Given the description of an element on the screen output the (x, y) to click on. 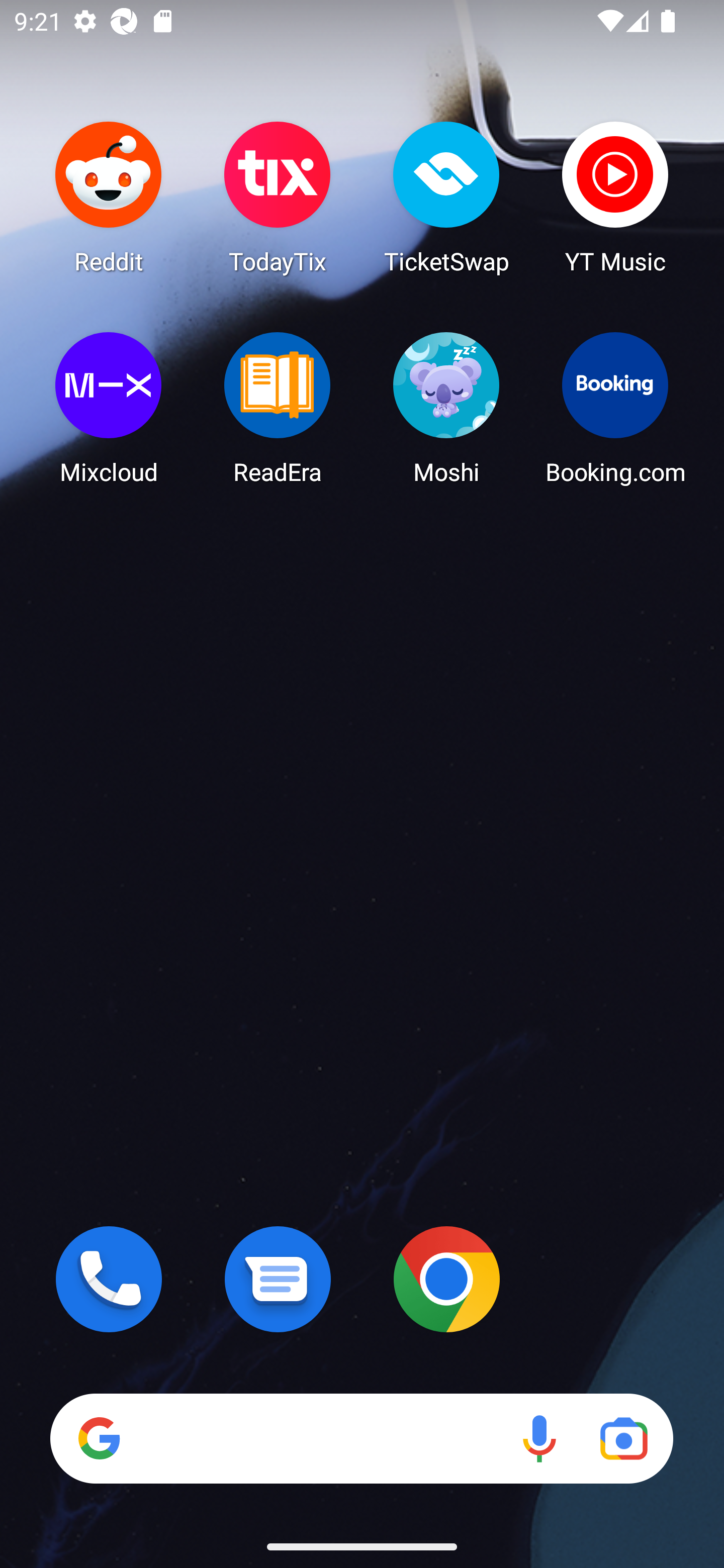
Reddit (108, 196)
TodayTix (277, 196)
TicketSwap (445, 196)
YT Music (615, 196)
Mixcloud (108, 407)
ReadEra (277, 407)
Moshi (445, 407)
Booking.com (615, 407)
Phone (108, 1279)
Messages (277, 1279)
Chrome (446, 1279)
Search Voice search Google Lens (361, 1438)
Voice search (539, 1438)
Google Lens (623, 1438)
